Given the description of an element on the screen output the (x, y) to click on. 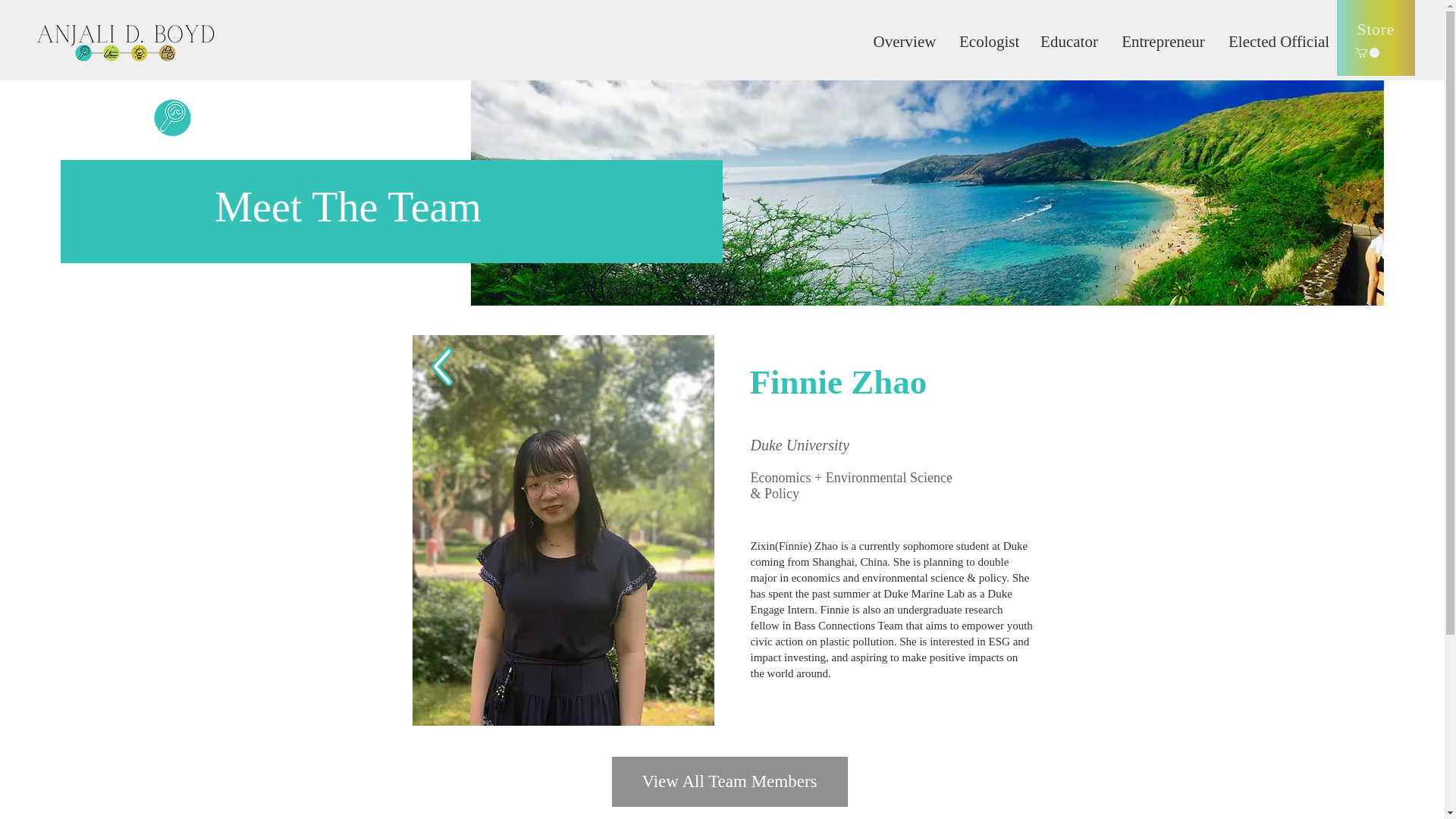
Educator (1069, 41)
View All Team Members (729, 781)
Overview (904, 41)
Ecologist (988, 41)
Entrepreneur (1163, 41)
Store (1375, 38)
Elected Official (1277, 41)
